Given the description of an element on the screen output the (x, y) to click on. 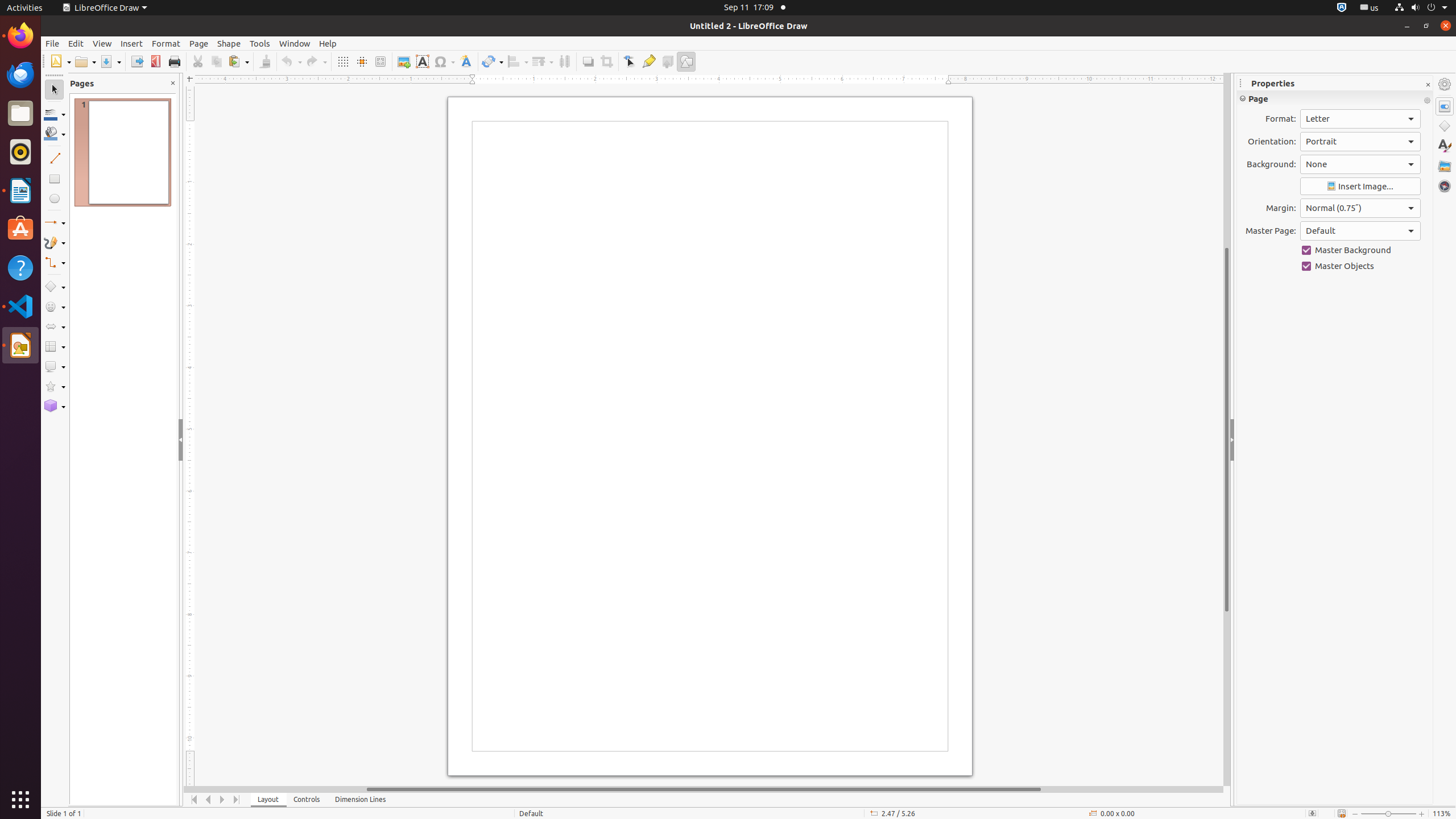
More Options Element type: push-button (1426, 100)
Shapes Element type: radio-button (1444, 126)
Crop Element type: push-button (606, 61)
Window Element type: menu (294, 43)
Arrange Element type: push-button (542, 61)
